Given the description of an element on the screen output the (x, y) to click on. 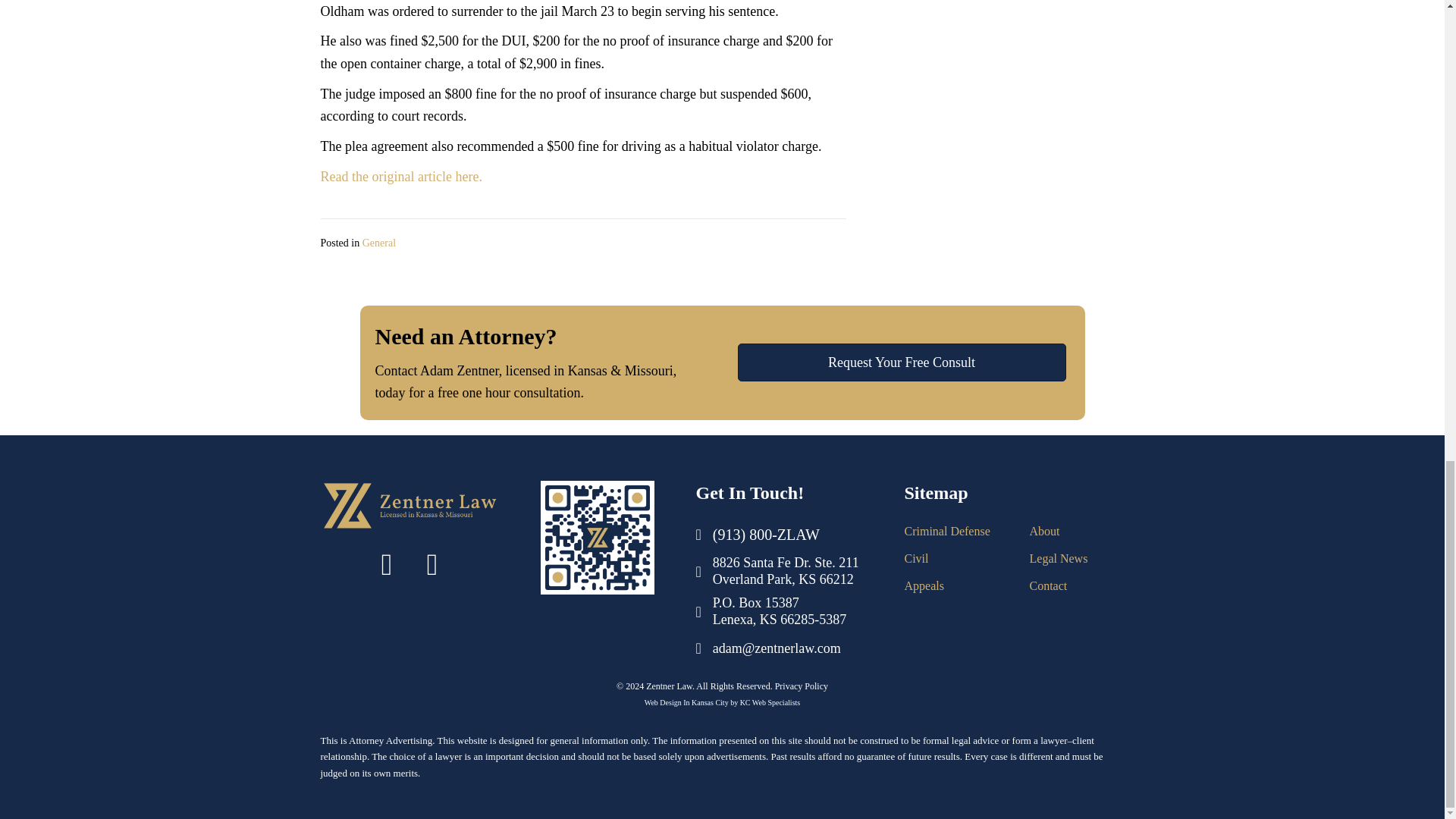
About (1044, 530)
General (379, 242)
PNRF (596, 537)
Civil (916, 558)
LinkedIn (432, 564)
Criminal Defense (947, 530)
Appeals (923, 585)
Zentner-Law-KS-MO (408, 505)
Read the original article here. (400, 176)
Facebook (387, 564)
Request Your Free Consult (901, 362)
